Given the description of an element on the screen output the (x, y) to click on. 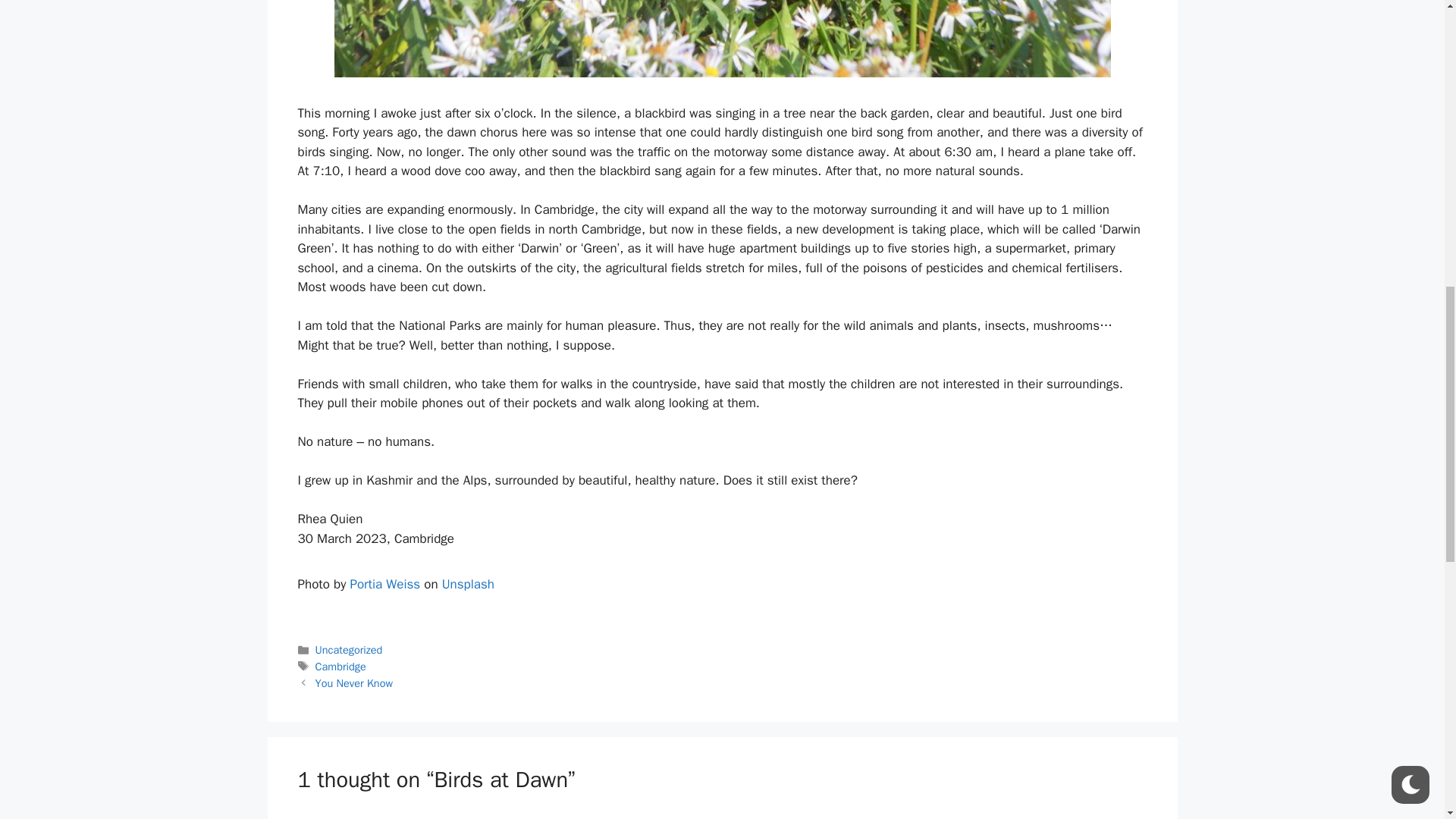
Cambridge (340, 666)
Unsplash (468, 584)
Portia Weiss (384, 584)
Previous (354, 683)
Uncategorized (348, 649)
2023-09-06-post (721, 38)
You Never Know (354, 683)
